Given the description of an element on the screen output the (x, y) to click on. 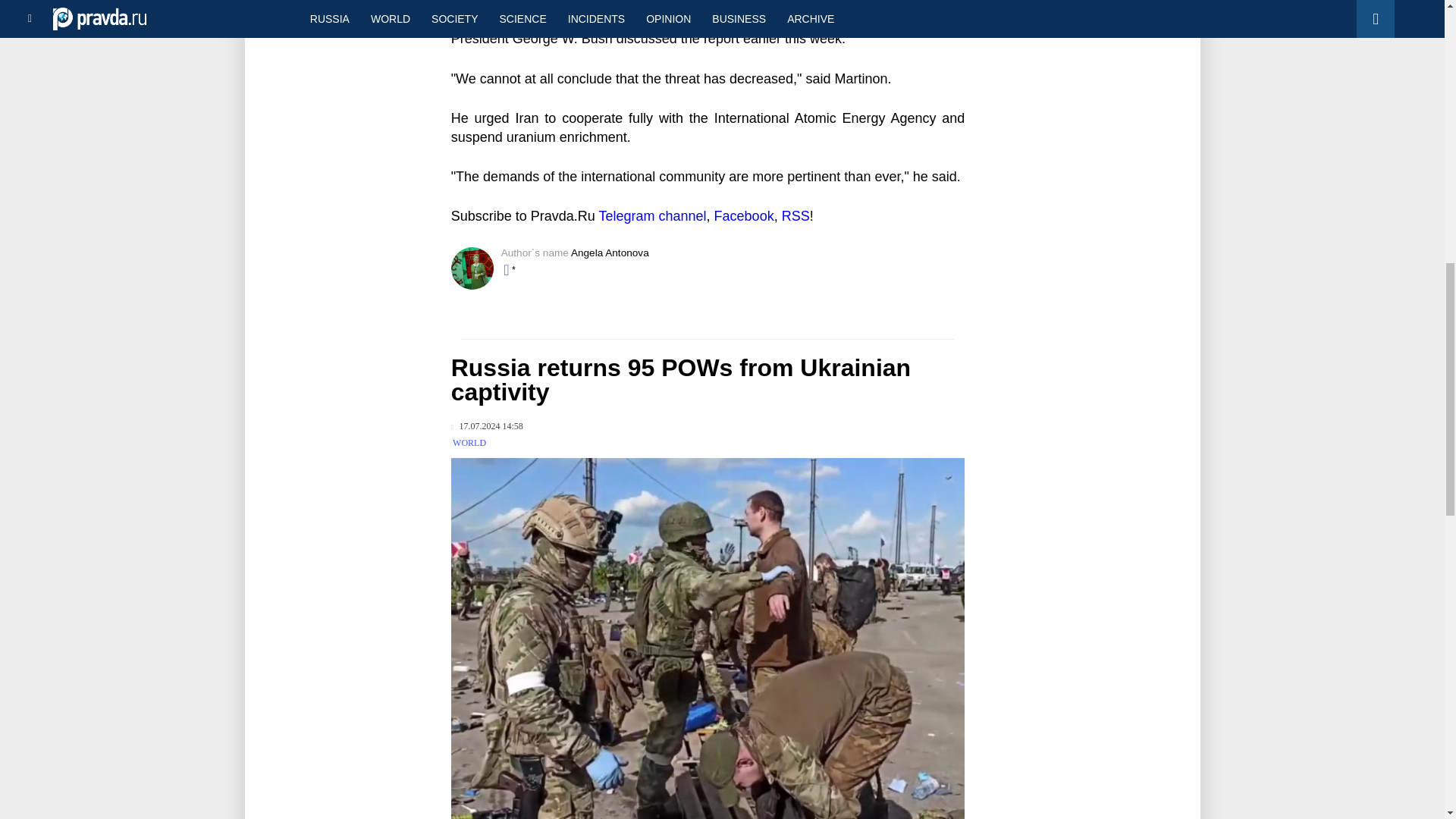
Back to top (1418, 79)
Angela Antonova (609, 252)
Published (486, 426)
Facebook (744, 215)
RSS (795, 215)
Telegram channel (652, 215)
